Given the description of an element on the screen output the (x, y) to click on. 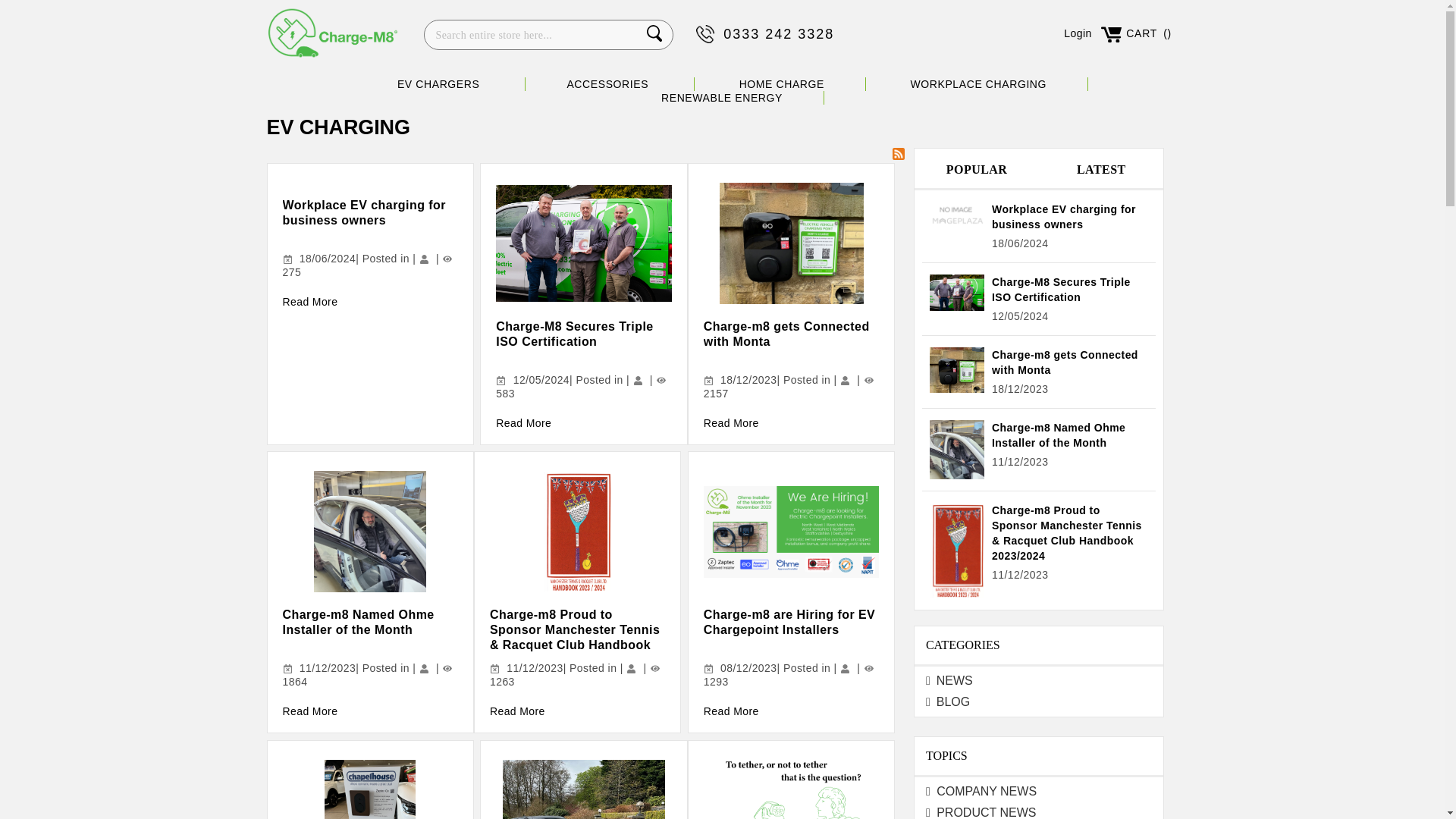
Charge-m8 gets Connected with Monta (786, 334)
Read More (730, 422)
Charge-m8 are Hiring for EV Chargepoint Installers (789, 622)
Login (1078, 33)
Charge-M8 Secures Triple ISO Certification (574, 334)
Workplace EV charging for business owners (363, 212)
Read More (309, 301)
Read More (309, 711)
Login (1078, 33)
Workplace EV charging for business owners (363, 212)
